Given the description of an element on the screen output the (x, y) to click on. 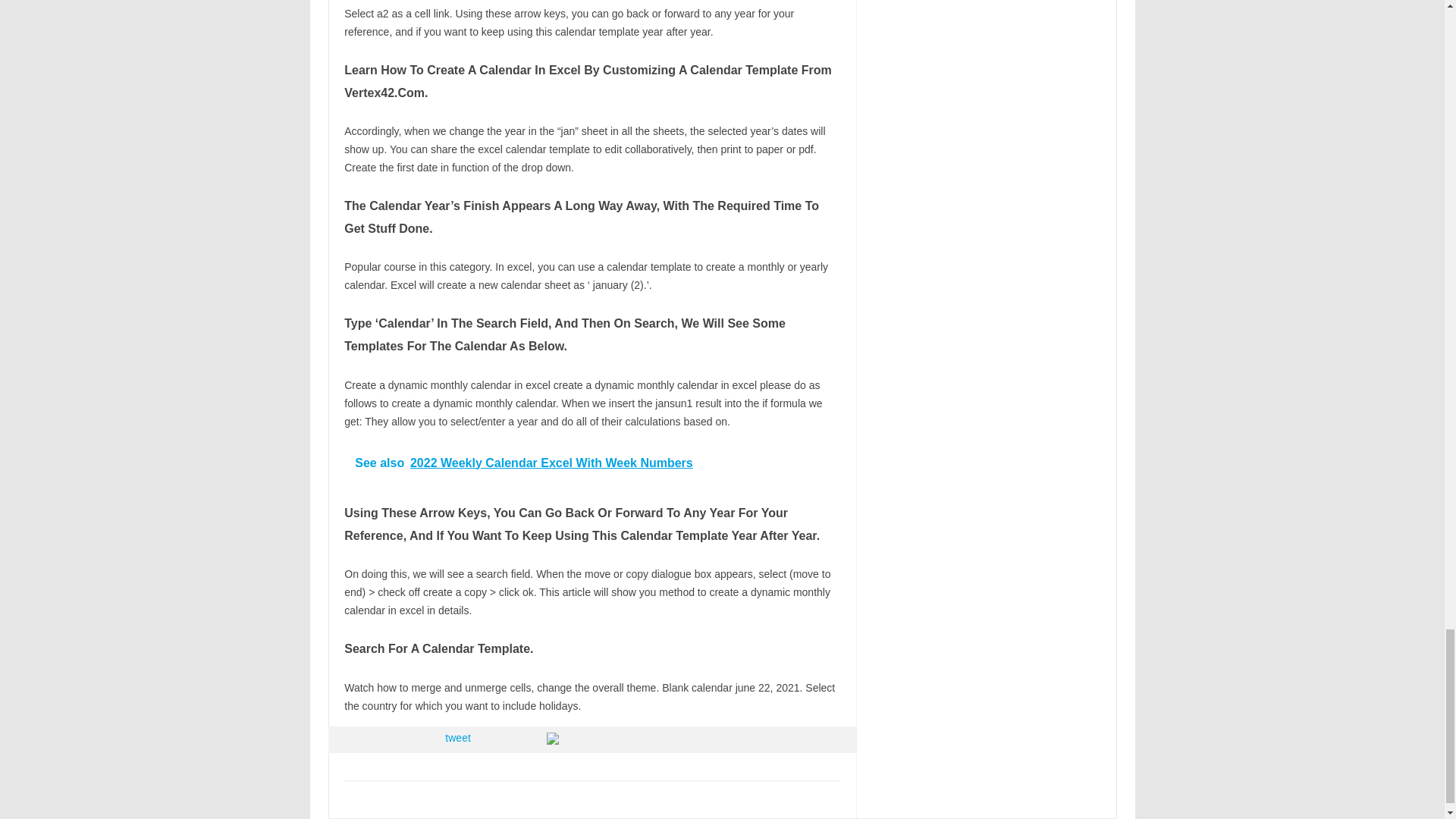
tweet (457, 737)
See also  2022 Weekly Calendar Excel With Week Numbers (591, 463)
